Given the description of an element on the screen output the (x, y) to click on. 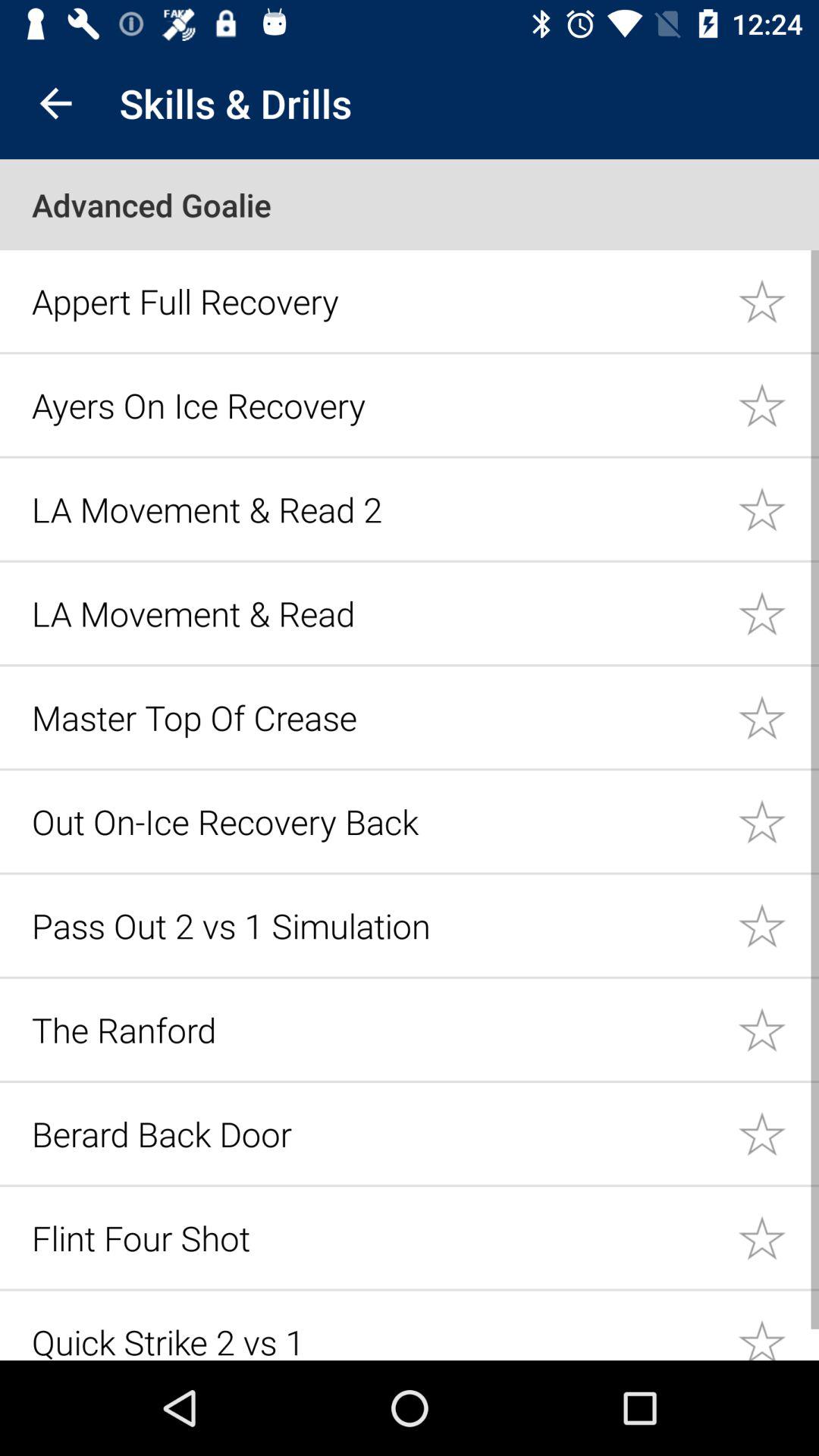
scroll to master top of item (376, 717)
